Given the description of an element on the screen output the (x, y) to click on. 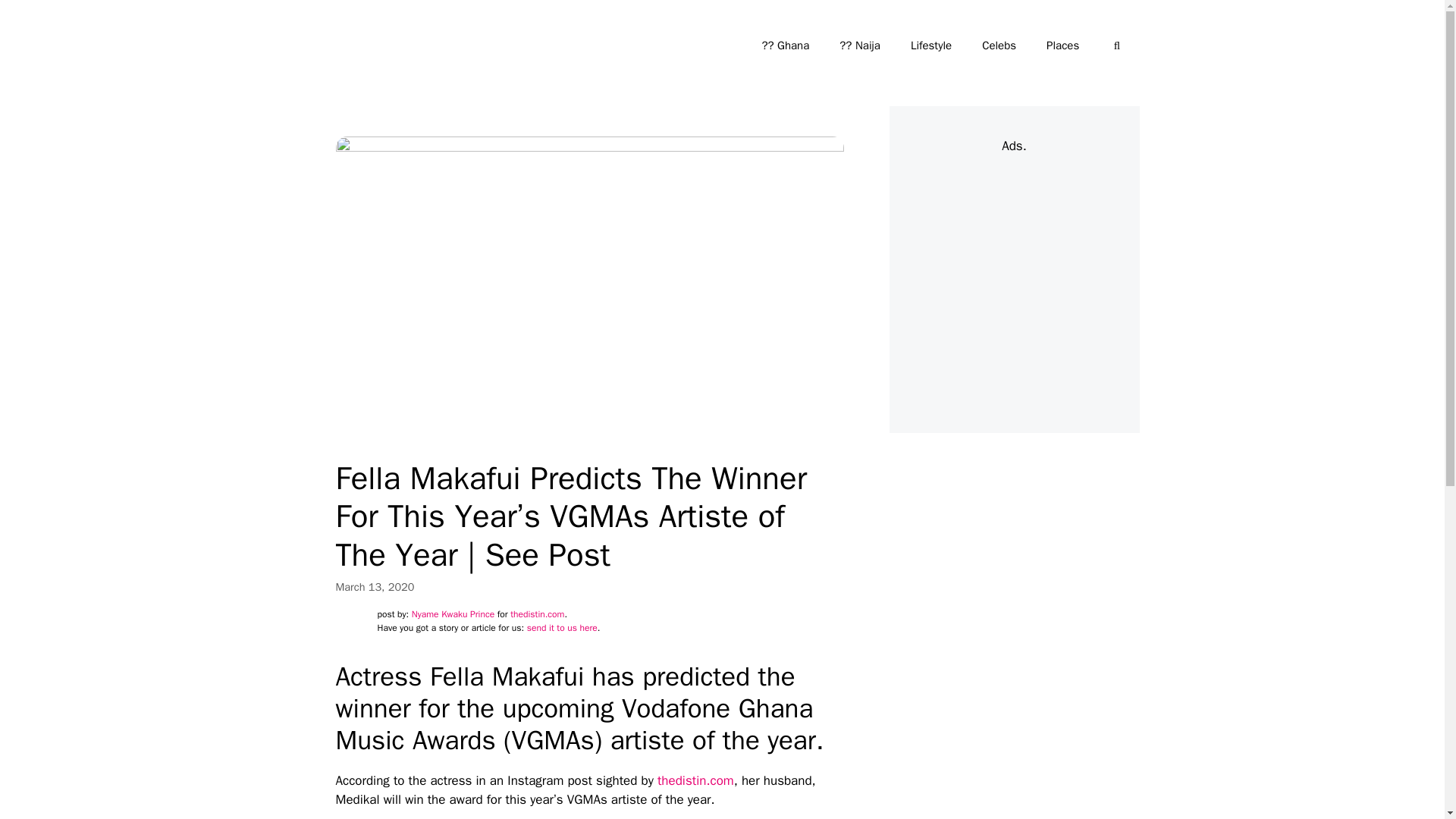
?? Naija (859, 44)
send it to us here (561, 627)
Thedistin (361, 45)
Thedistin (365, 45)
Places (1062, 44)
Celebs (998, 44)
Lifestyle (930, 44)
thedistin.com (537, 613)
Nyame Kwaku Prince (453, 613)
?? Ghana (784, 44)
Search (35, 18)
thedistin.com (695, 780)
